Given the description of an element on the screen output the (x, y) to click on. 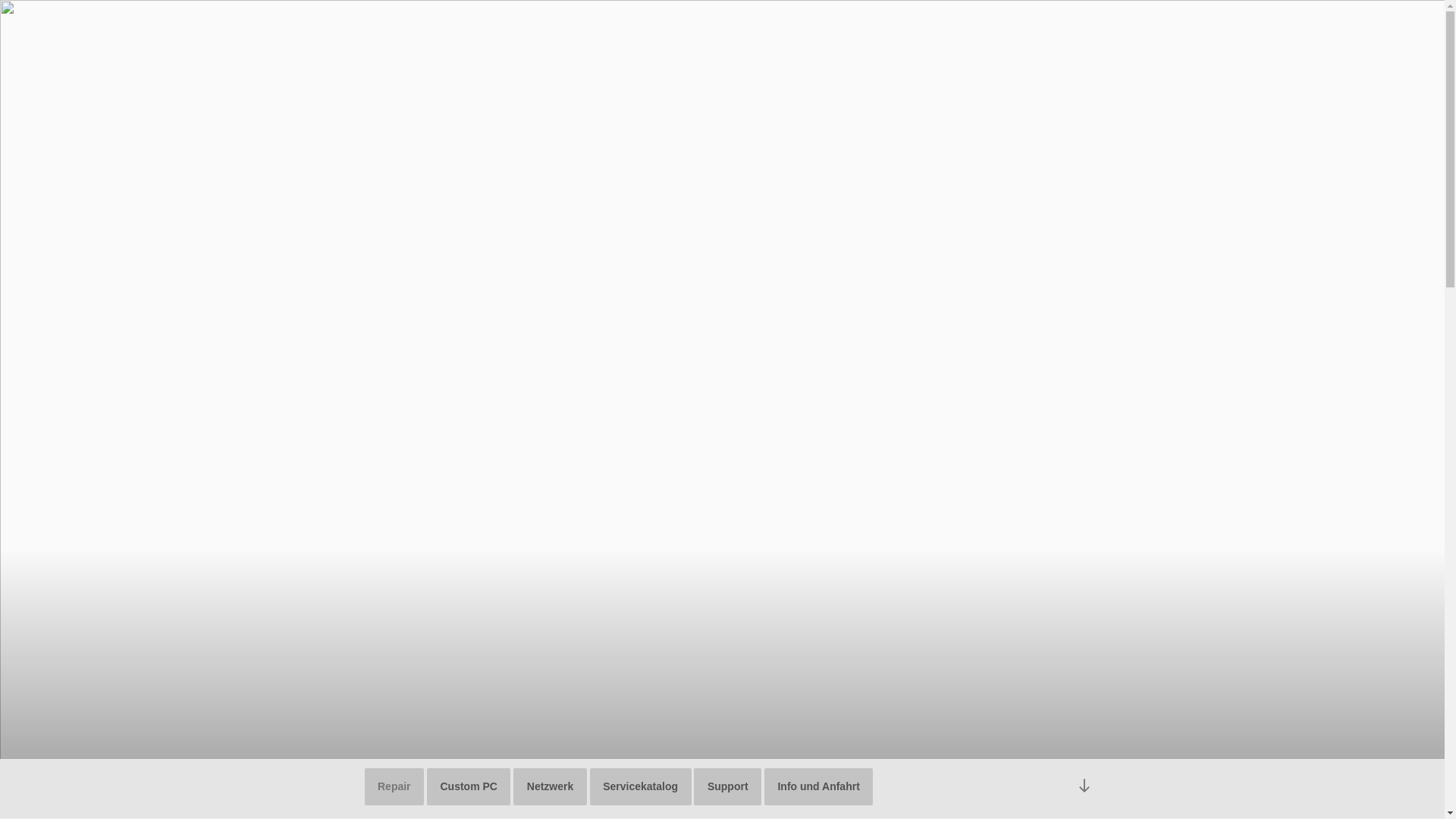
Custom PC Element type: text (468, 785)
Repair Element type: text (393, 785)
Info und Anfahrt Element type: text (818, 785)
Netzwerk Element type: text (549, 785)
Support Element type: text (727, 785)
Zum Inhalt nach unten scrollen Element type: text (1083, 785)
Zum Inhalt springen Element type: text (0, 0)
Servicekatalog Element type: text (640, 785)
